Given the description of an element on the screen output the (x, y) to click on. 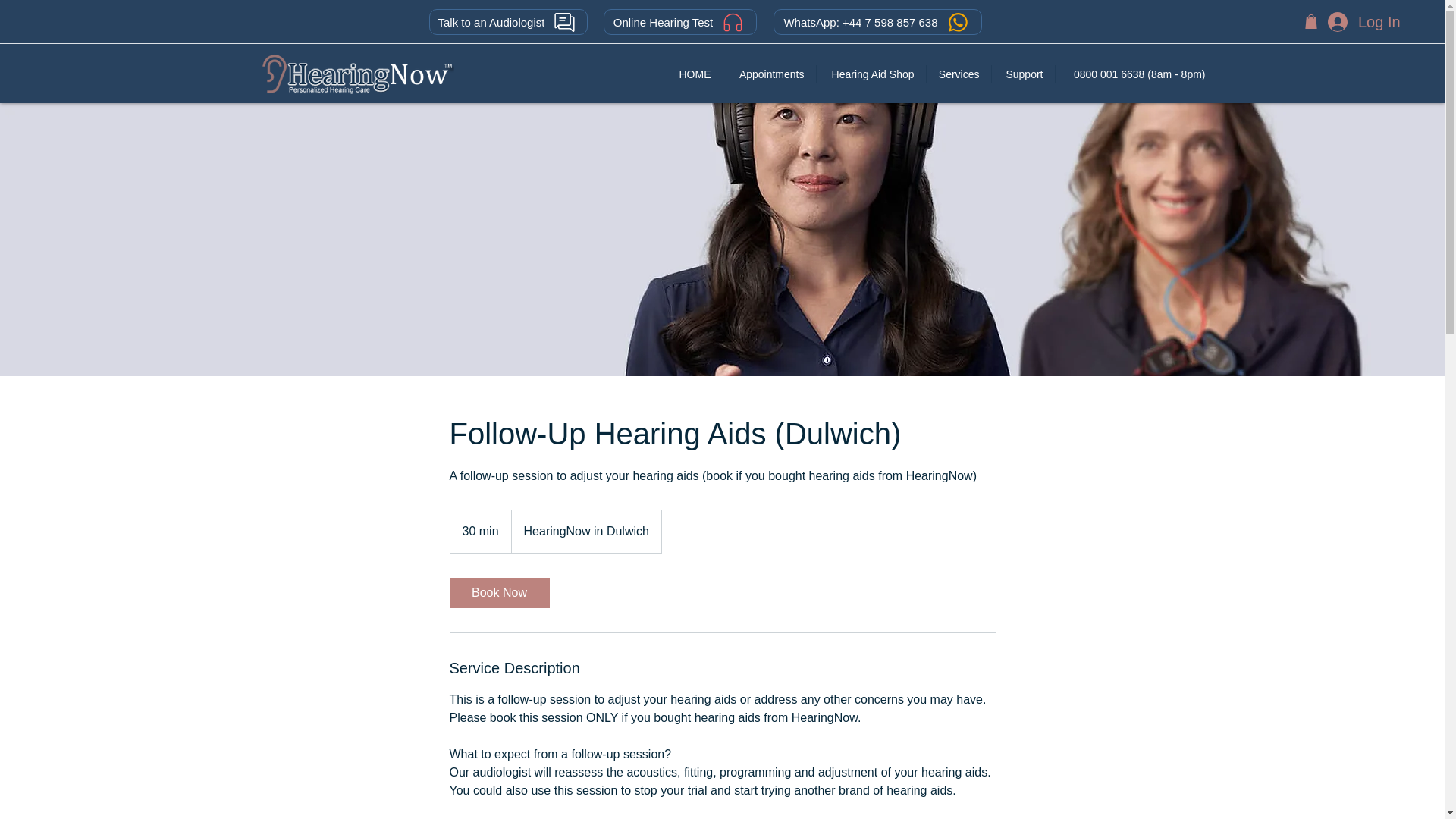
Online Hearing Test (680, 22)
Talk to an Audiologist (508, 22)
Log In (1362, 21)
Appointments (769, 74)
Services (958, 74)
HOME (694, 74)
Hearing Aid Shop (869, 74)
